Given the description of an element on the screen output the (x, y) to click on. 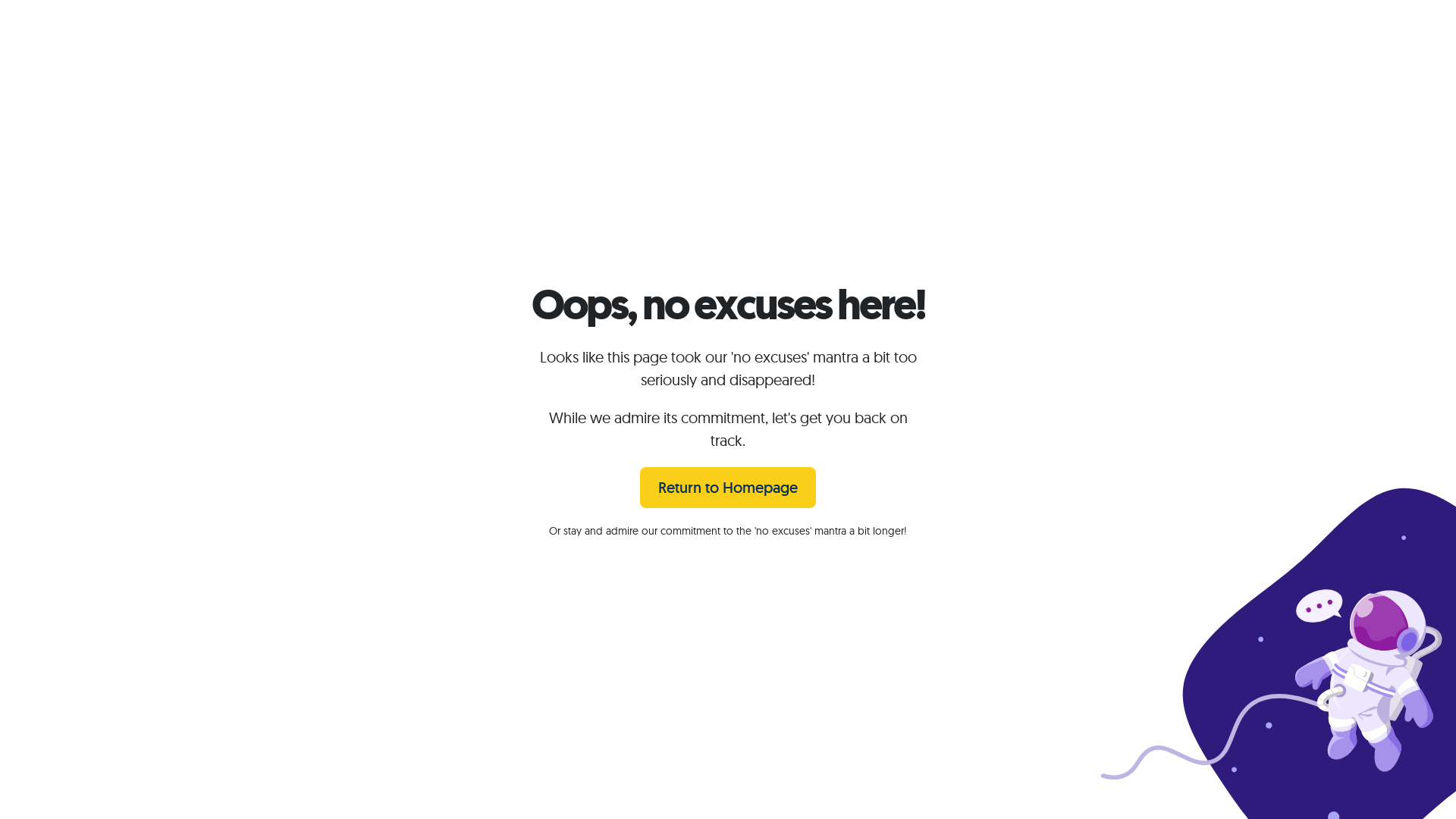
Return to Homepage Element type: text (727, 487)
